Given the description of an element on the screen output the (x, y) to click on. 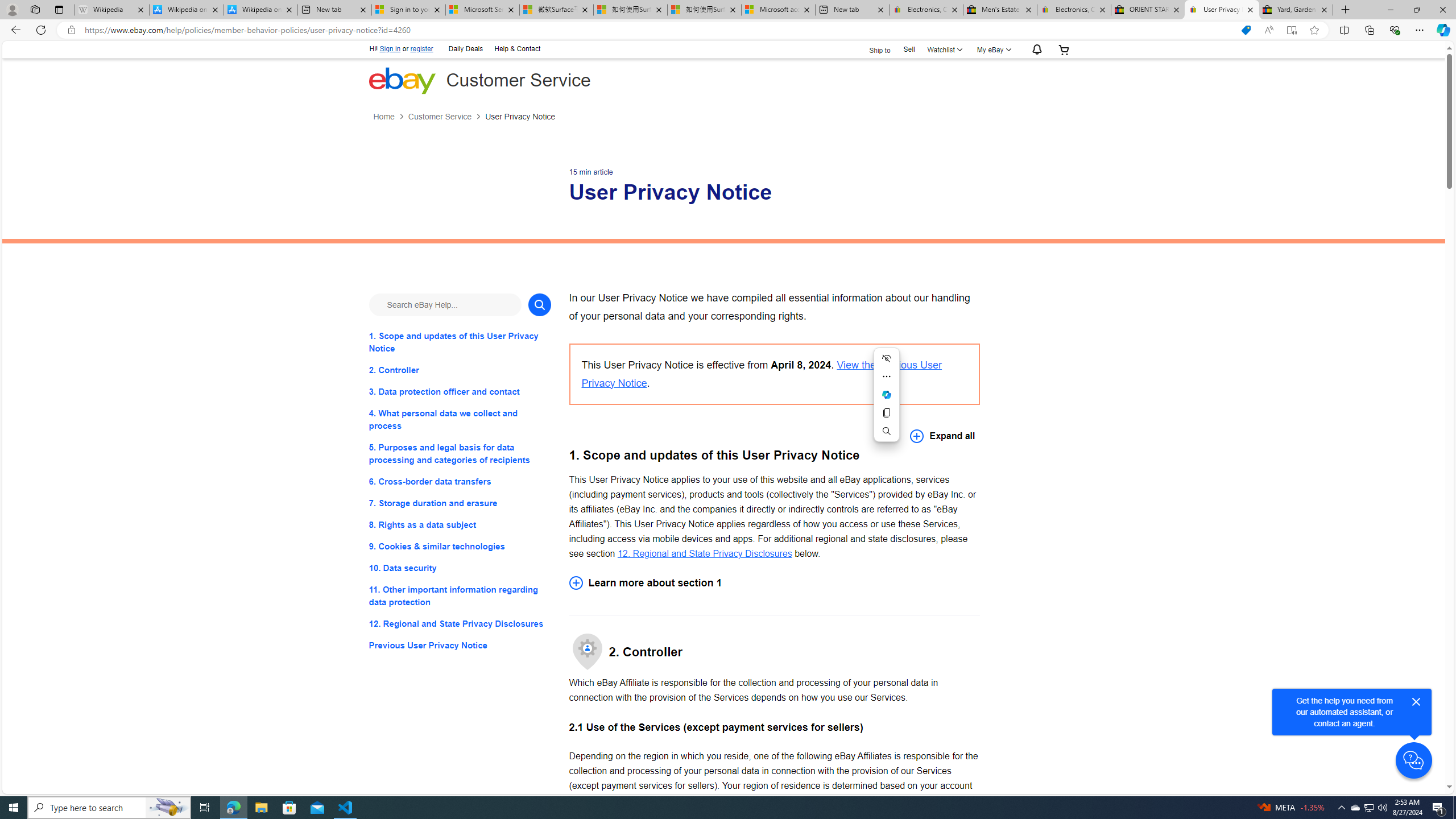
Daily Deals (465, 48)
Previous User Privacy Notice (459, 645)
eBay Home (401, 80)
1. Scope and updates of this User Privacy Notice (459, 341)
9. Cookies & similar technologies (459, 546)
8. Rights as a data subject (459, 524)
Ship to (872, 48)
12. Regional and State Privacy Disclosures (704, 552)
